Given the description of an element on the screen output the (x, y) to click on. 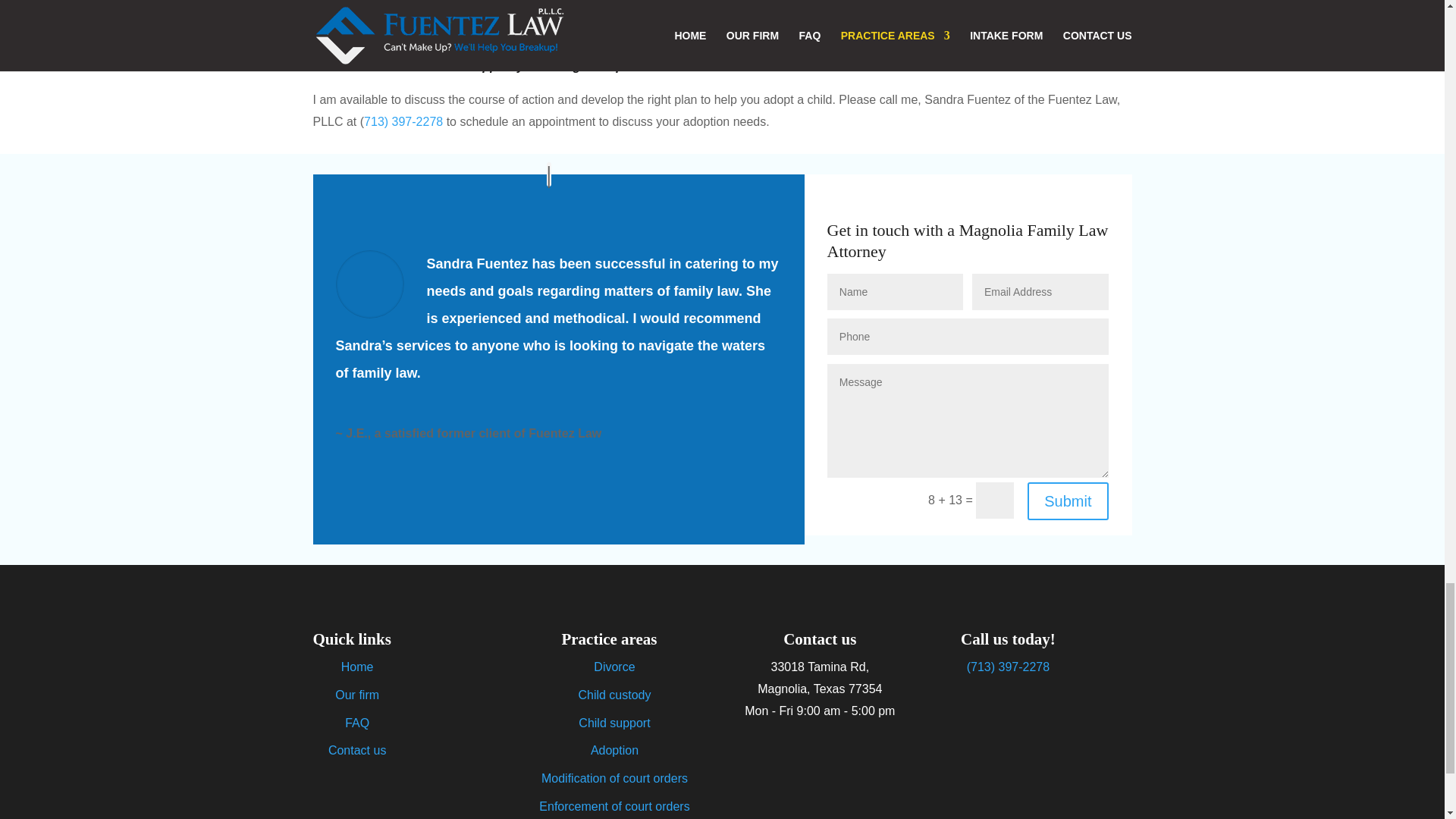
Our firm (356, 694)
Child custody (614, 694)
Child support (613, 722)
FAQ (357, 722)
Submit (1067, 501)
Modification of court orders (614, 778)
Only numbers allowed. (967, 336)
Contact us (357, 749)
Home (357, 666)
Divorce (614, 666)
